Given the description of an element on the screen output the (x, y) to click on. 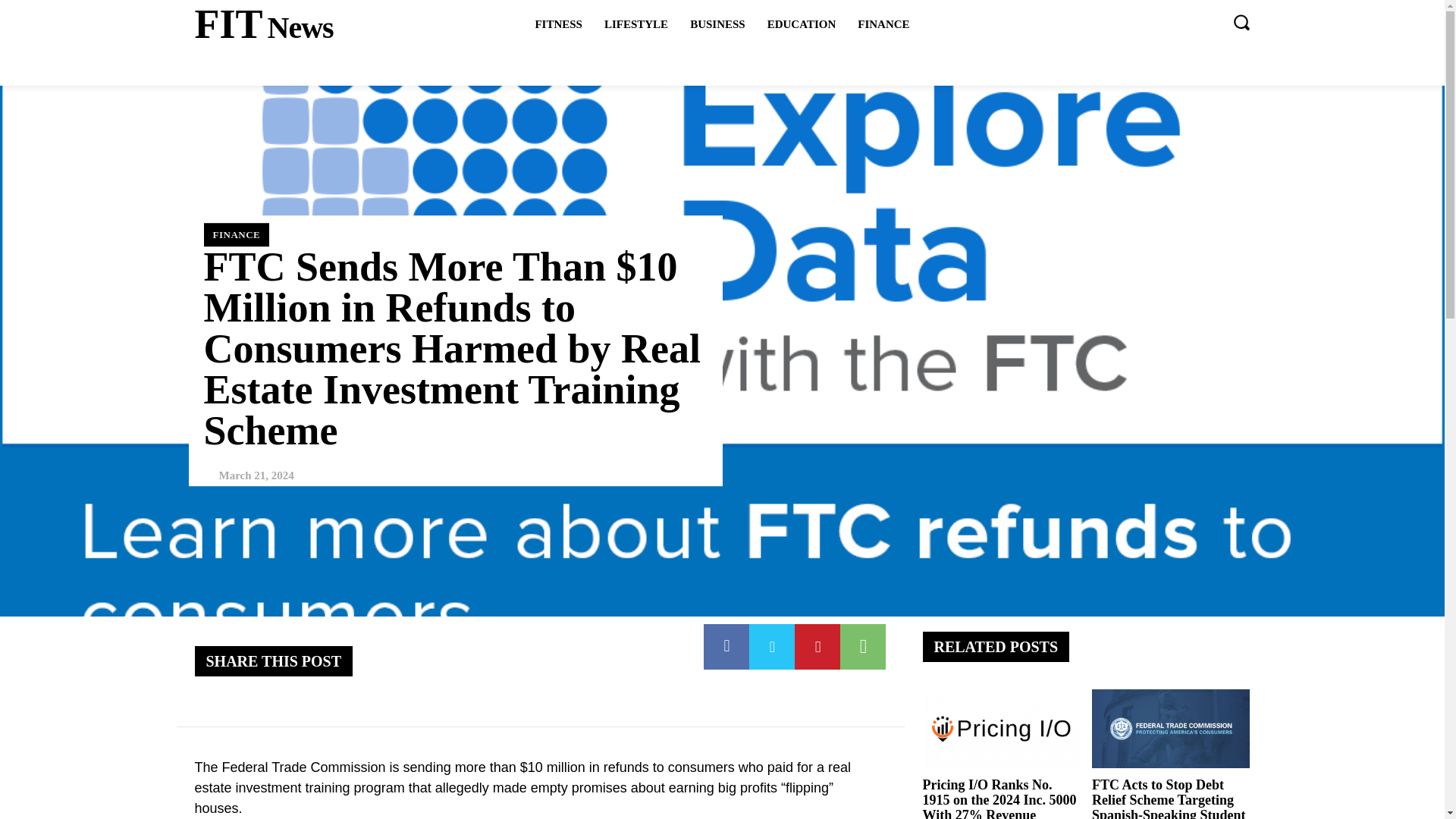
LIFESTYLE (636, 24)
WhatsApp (862, 646)
BUSINESS (263, 24)
EDUCATION (717, 24)
Twitter (801, 24)
FINANCE (771, 646)
FITNESS (883, 24)
